Given the description of an element on the screen output the (x, y) to click on. 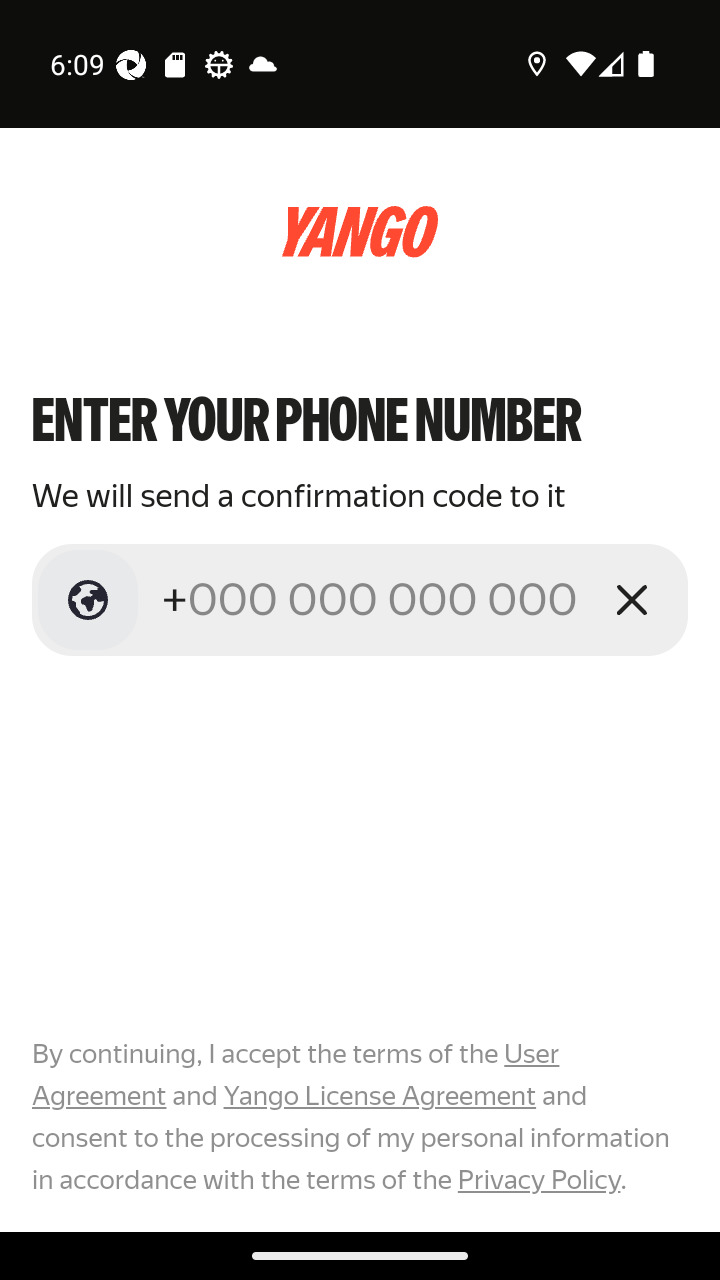
logo (359, 231)
  (88, 600)
+ (372, 599)
User Agreement (295, 1075)
Yango License Agreement (379, 1096)
Privacy Policy (538, 1179)
